Given the description of an element on the screen output the (x, y) to click on. 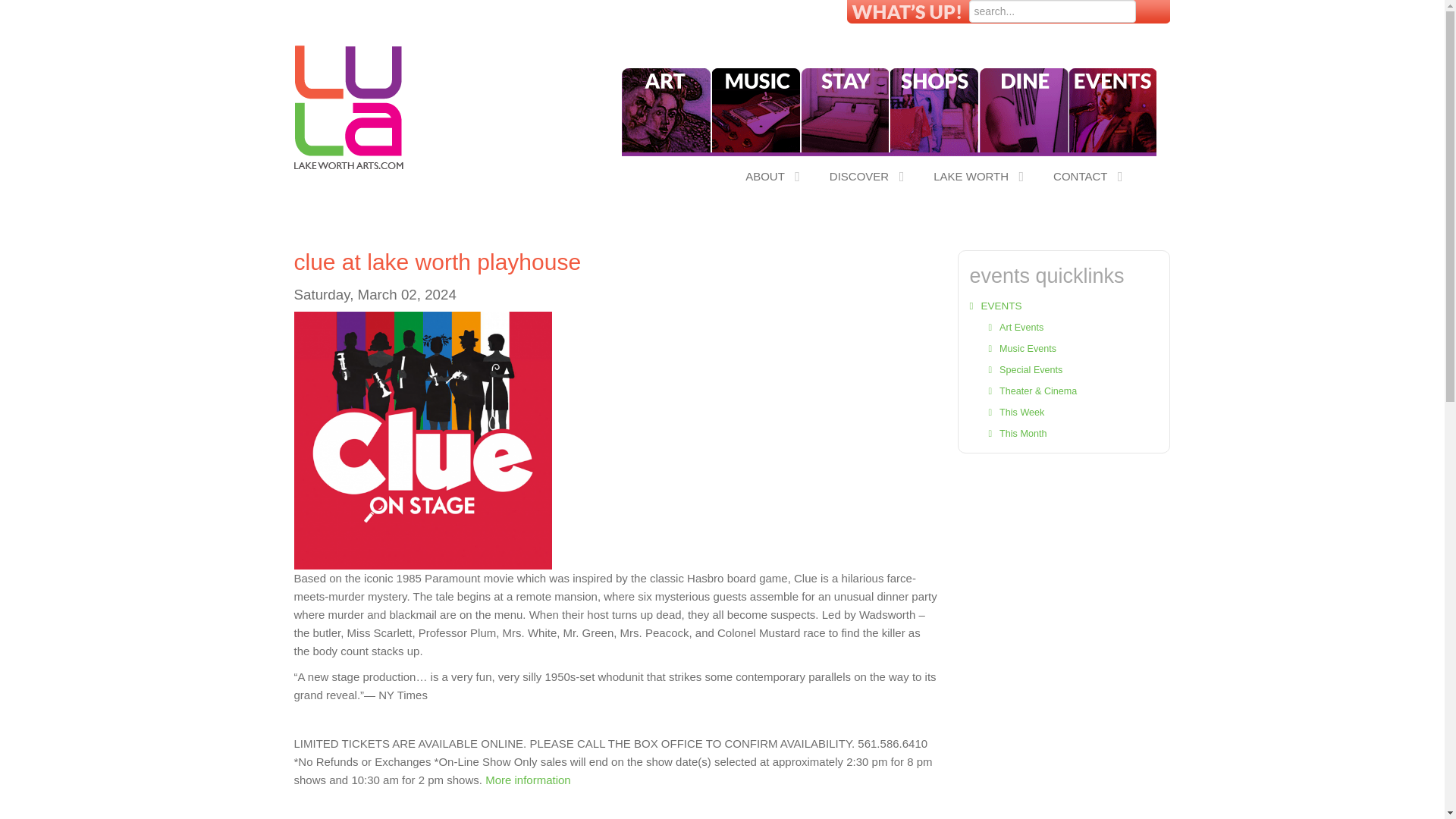
Link to directory of shops and services (933, 111)
ABOUT (772, 176)
Link to musicians and live music venues (755, 111)
Link to Events calendar (1113, 111)
DISCOVER (865, 176)
Link to home page (348, 100)
Link to directory of artists and galleries (666, 111)
Link to directory of restuarants (1023, 111)
Link to directory of hotels and inns (844, 111)
